Given the description of an element on the screen output the (x, y) to click on. 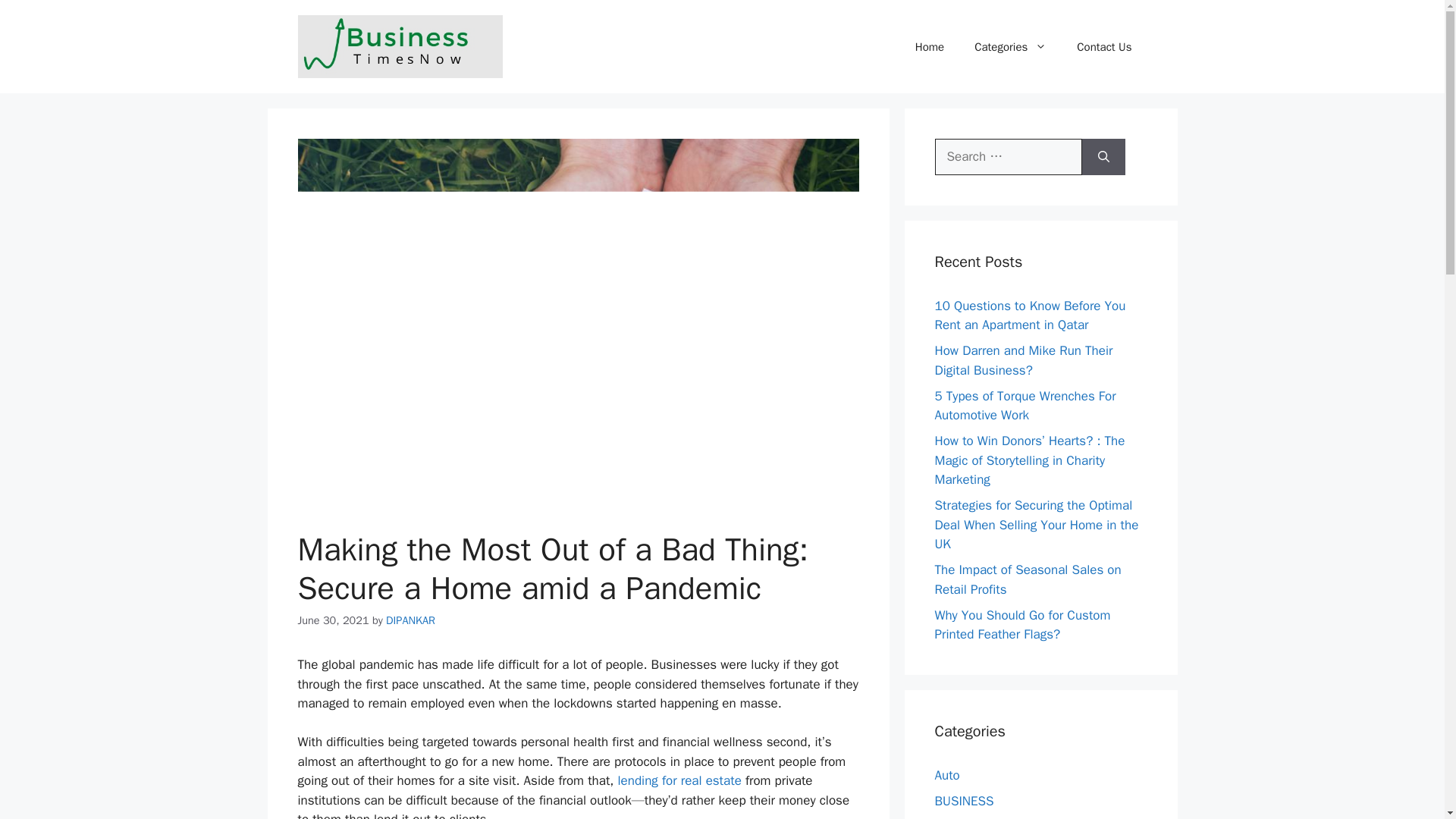
Auto (946, 774)
View all posts by DIPANKAR (410, 620)
How Darren and Mike Run Their Digital Business? (1023, 360)
Home (929, 46)
Categories (1010, 46)
BUSINESS (963, 801)
5 Types of Torque Wrenches For Automotive Work (1024, 406)
lending for real estate (679, 780)
10 Questions to Know Before You Rent an Apartment in Qatar (1029, 315)
Search for: (1007, 156)
Contact Us (1104, 46)
The Impact of Seasonal Sales on Retail Profits (1027, 579)
DIPANKAR (410, 620)
Why You Should Go for Custom Printed Feather Flags? (1021, 624)
